Given the description of an element on the screen output the (x, y) to click on. 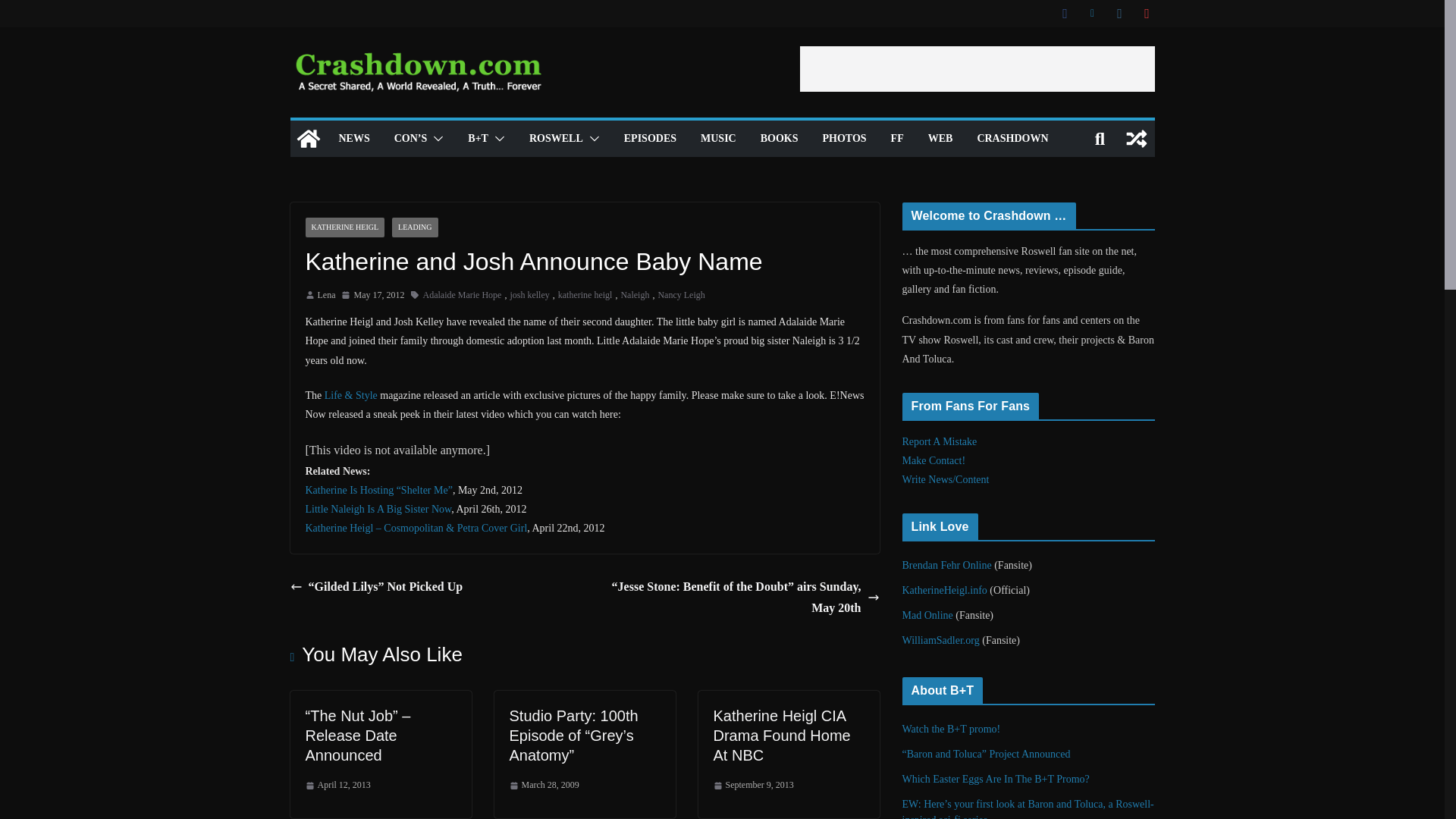
May 17, 2012 (372, 295)
KATHERINE HEIGL (344, 227)
PHOTOS (844, 138)
View a random post (1136, 138)
NEWS (353, 138)
WEB (940, 138)
EPISODES (650, 138)
LEADING (414, 227)
Adalaide Marie Hope (461, 295)
katherine heigl (584, 295)
